Given the description of an element on the screen output the (x, y) to click on. 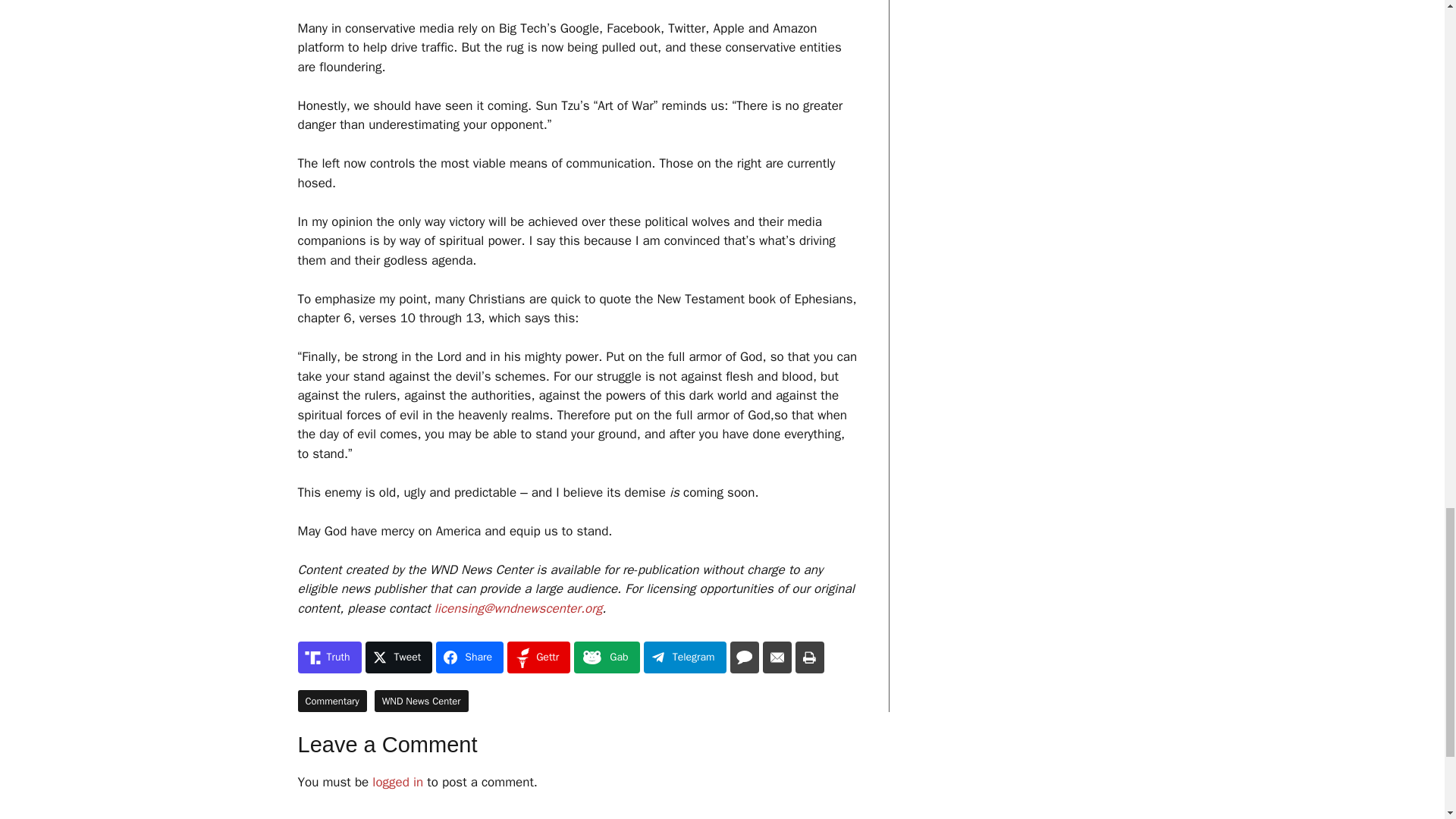
Share on Tweet (398, 657)
Share on Truth (329, 657)
Share on Share (469, 657)
Share on Gettr (538, 657)
